Given the description of an element on the screen output the (x, y) to click on. 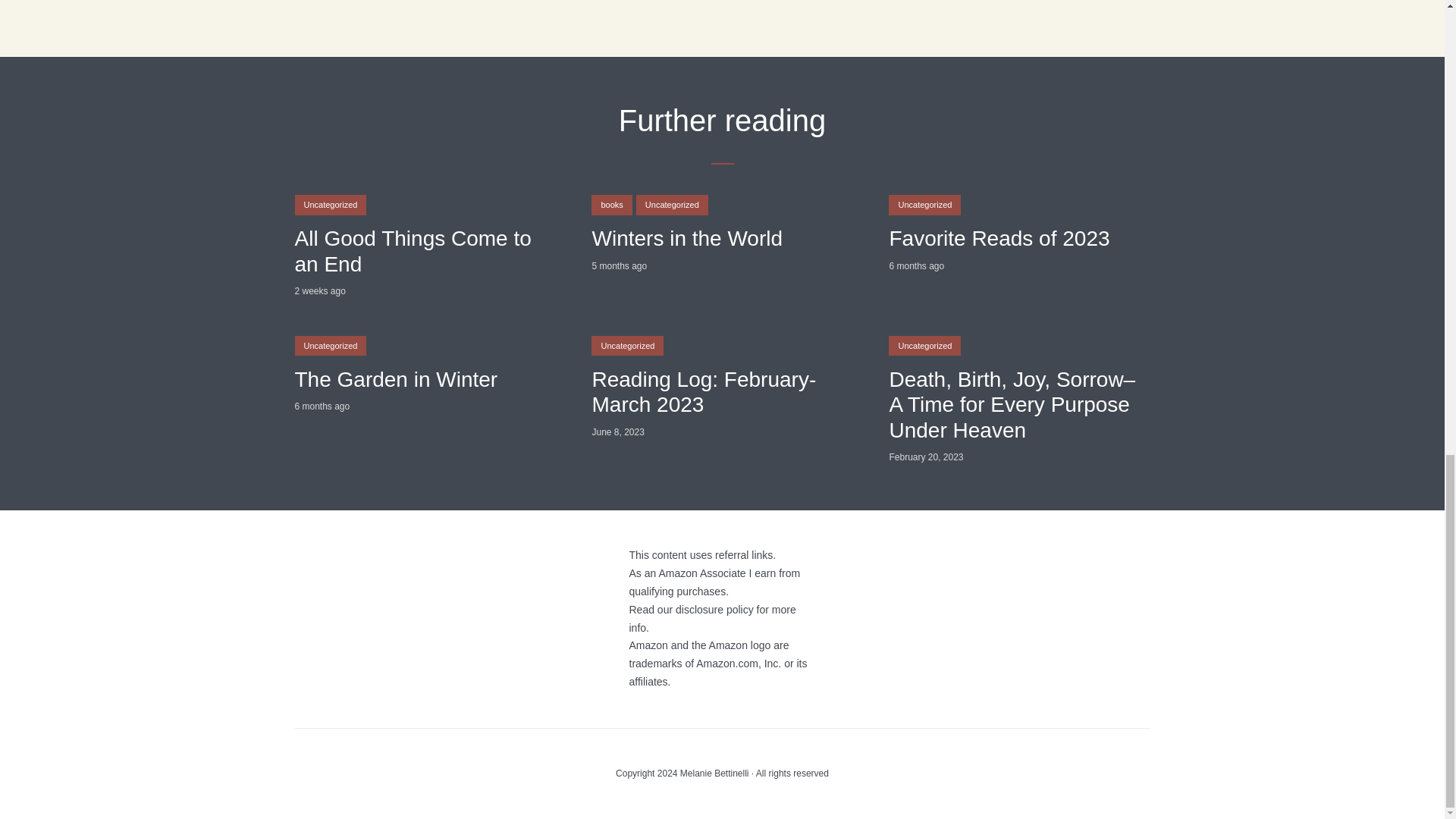
Uncategorized (330, 204)
Uncategorized (924, 204)
Winters in the World (721, 238)
Uncategorized (671, 204)
Reading Log: February-March 2023 (721, 391)
The Garden in Winter (424, 379)
books (611, 204)
Uncategorized (330, 345)
Favorite Reads of 2023 (1019, 238)
Uncategorized (627, 345)
All Good Things Come to an End (424, 251)
